Given the description of an element on the screen output the (x, y) to click on. 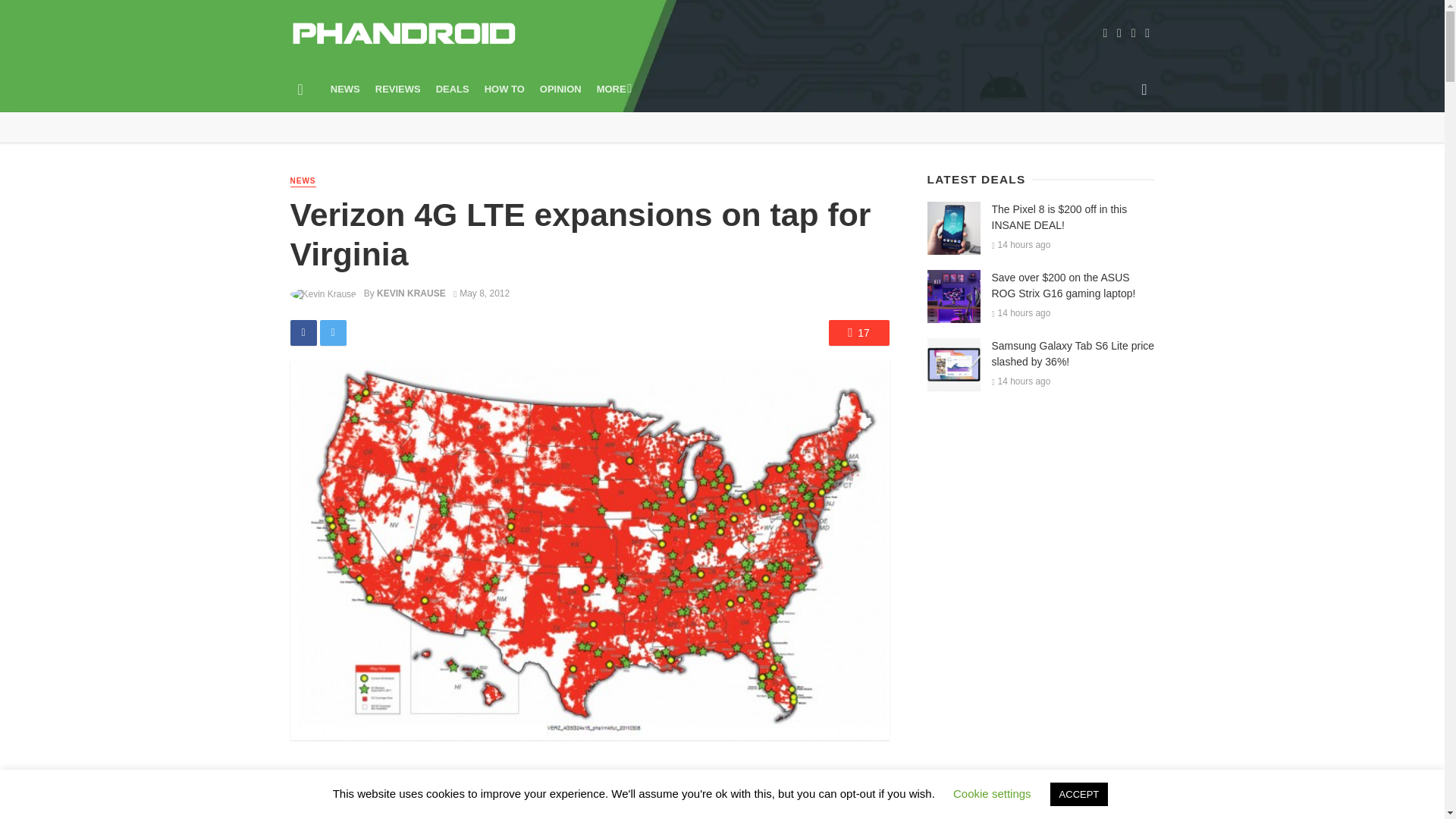
NEWS (302, 181)
NEWS (345, 89)
Posts by Kevin Krause (411, 293)
DEALS (452, 89)
REVIEWS (398, 89)
HOW TO (504, 89)
KEVIN KRAUSE (411, 293)
17 (858, 332)
MORE (612, 89)
VerizonLTE (588, 792)
